Given the description of an element on the screen output the (x, y) to click on. 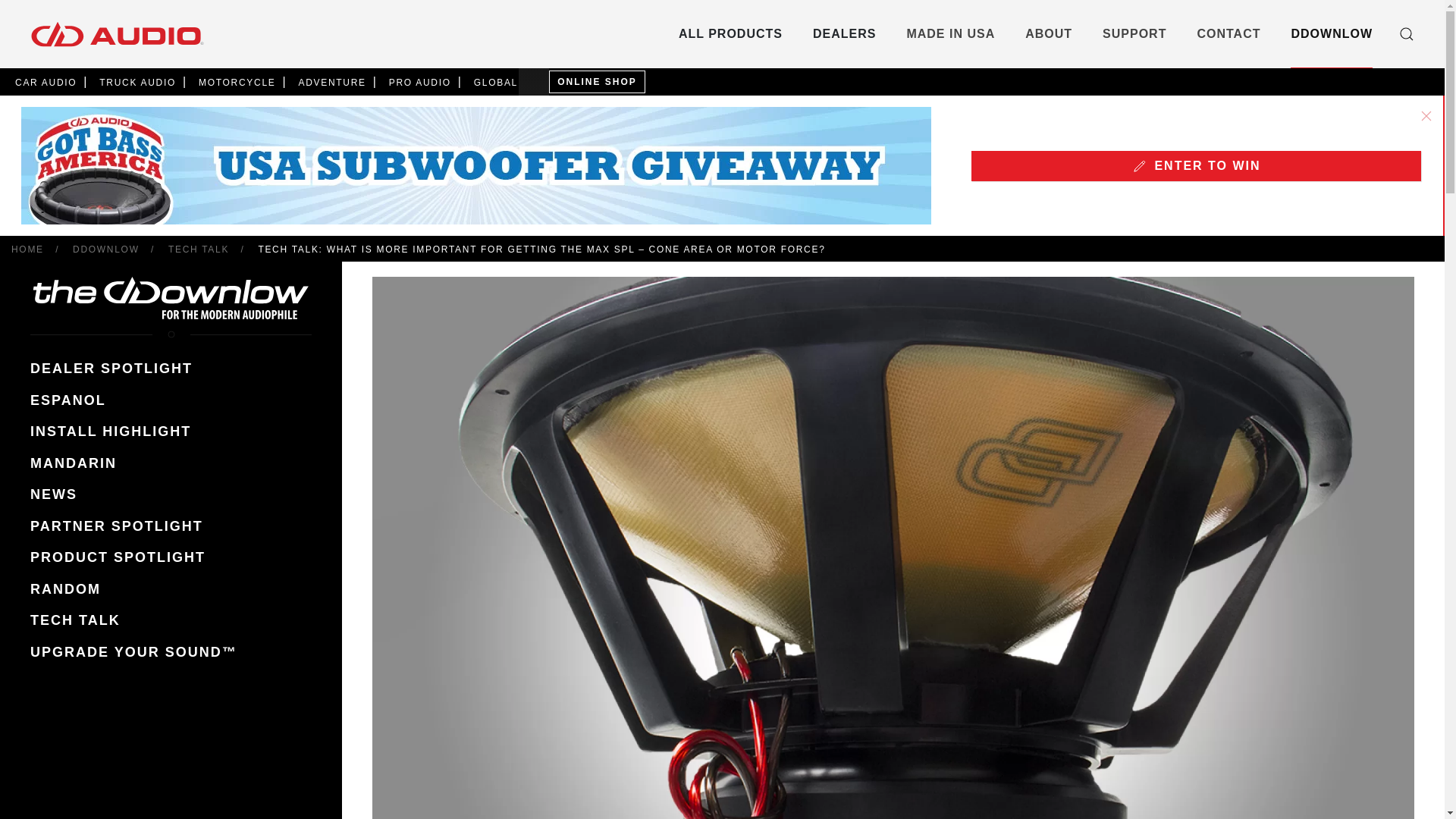
MADE IN USA (950, 33)
Support Information (1134, 33)
Information About DD Audio (1048, 33)
ALL PRODUCTS (730, 33)
Contact Forms and Information (1227, 33)
ABOUT (1048, 33)
SUPPORT (1134, 33)
CONTACT (1227, 33)
Enter to win link (1196, 168)
DEALERS (844, 33)
